Given the description of an element on the screen output the (x, y) to click on. 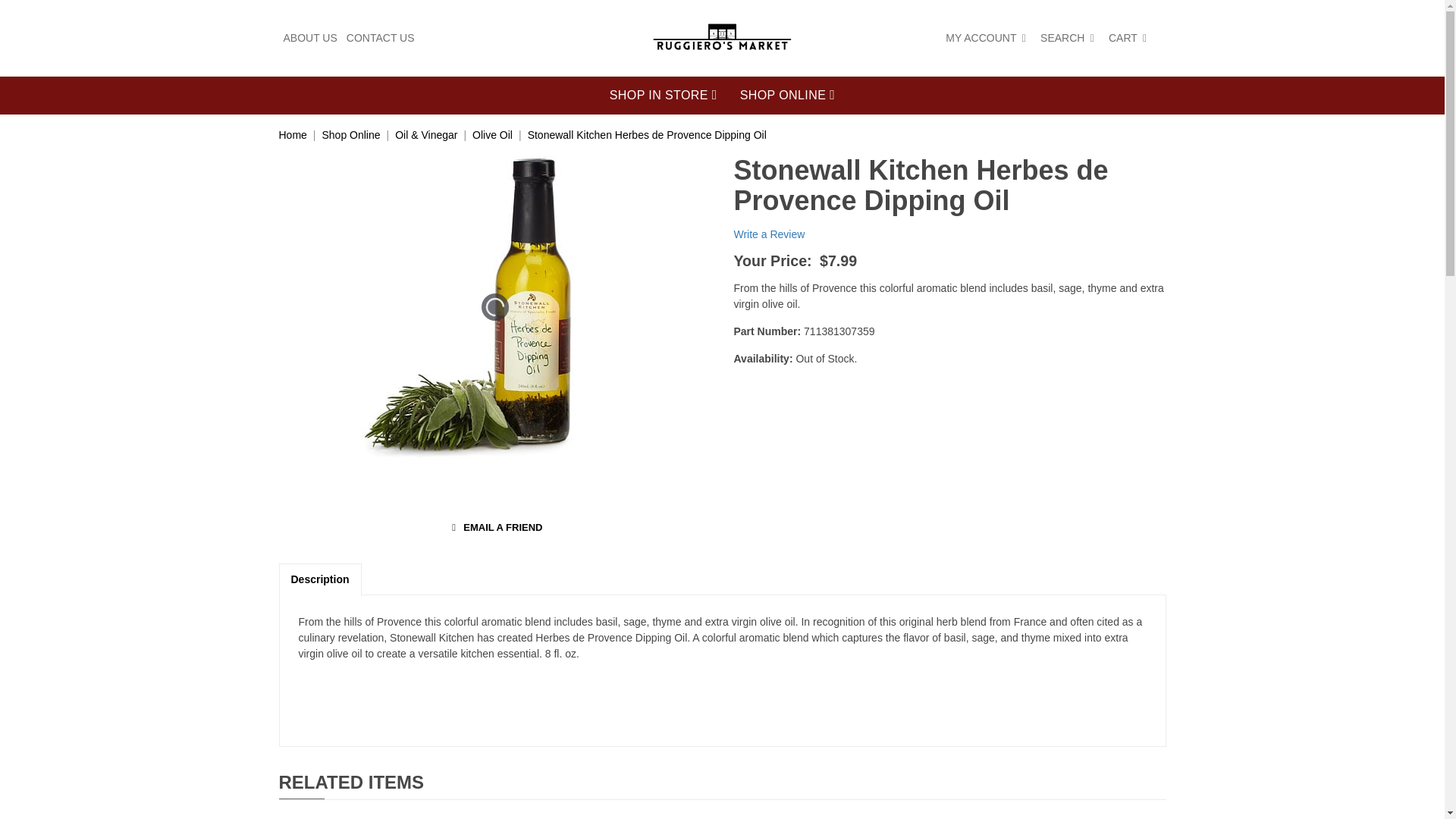
CONTACT US (380, 37)
Stonewall Kitchen Herbes de Provence Dipping Oil (647, 134)
SEARCH (1070, 37)
CART (1129, 37)
ABOUT US (310, 37)
Home (293, 134)
SHOP IN STORE (663, 95)
Shop Online (350, 134)
MY ACCOUNT (987, 37)
Olive Oil (491, 134)
